Given the description of an element on the screen output the (x, y) to click on. 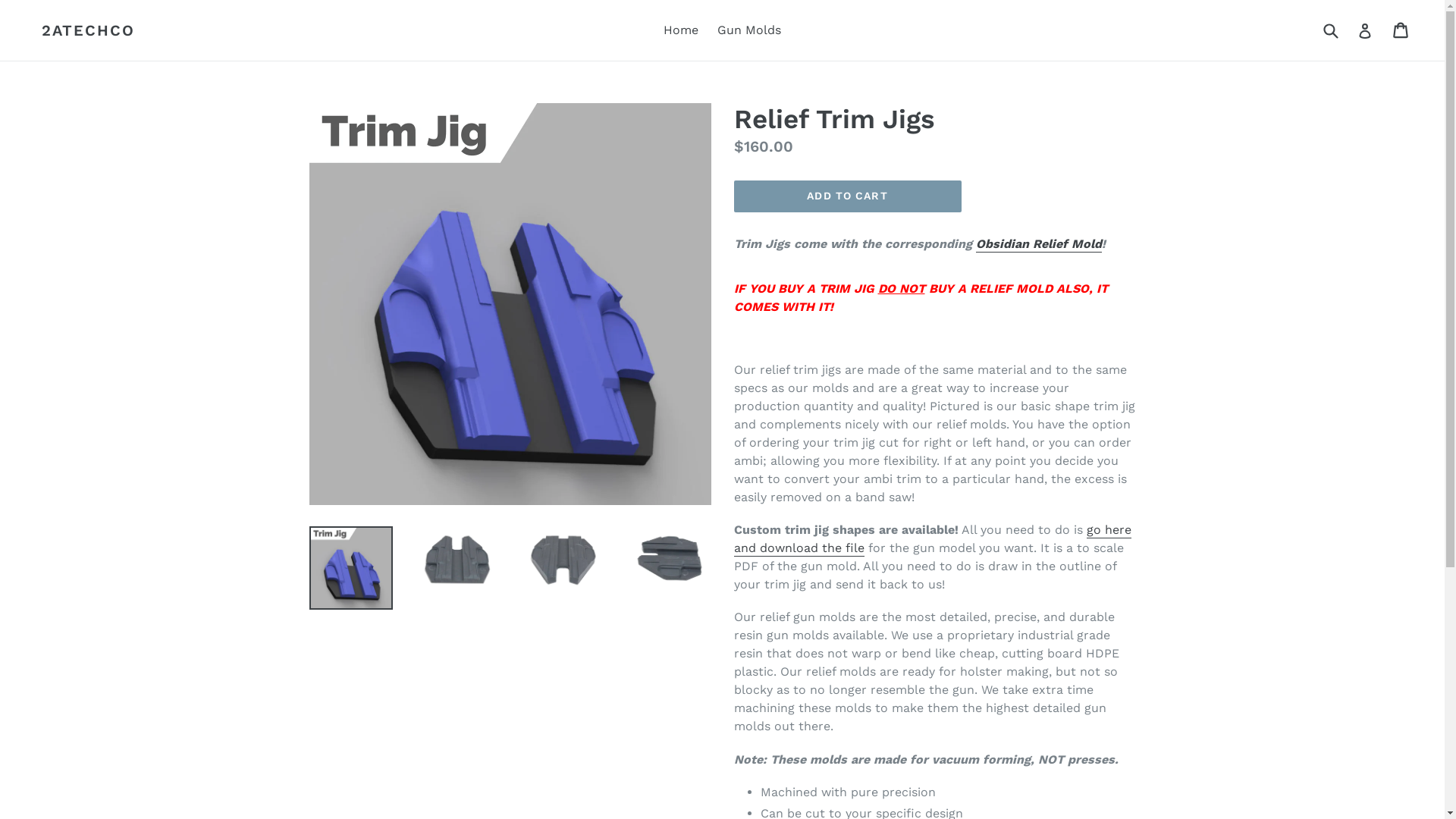
Home Element type: text (680, 29)
Gun Molds Element type: text (748, 29)
2ATECHCO Element type: text (87, 30)
Cart
Cart Element type: text (1401, 29)
Log in Element type: text (1364, 30)
ADD TO CART Element type: text (847, 196)
Obsidian Relief Mold Element type: text (1038, 244)
go here and download the file Element type: text (932, 539)
Submit Element type: text (1329, 29)
